Given the description of an element on the screen output the (x, y) to click on. 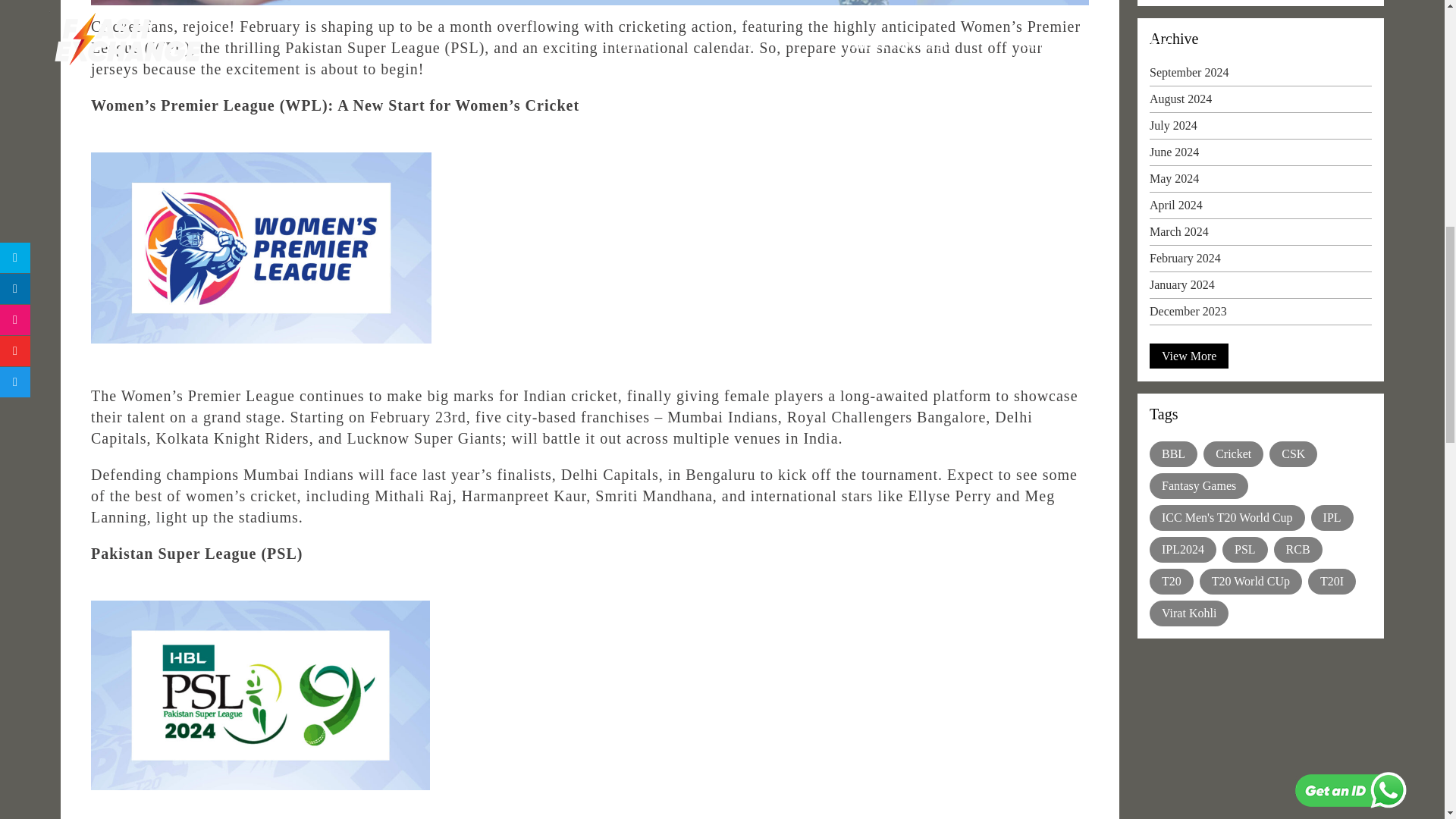
September 2024 (1260, 76)
August 2024 (1260, 102)
June 2024 (1260, 155)
July 2024 (1260, 128)
